Given the description of an element on the screen output the (x, y) to click on. 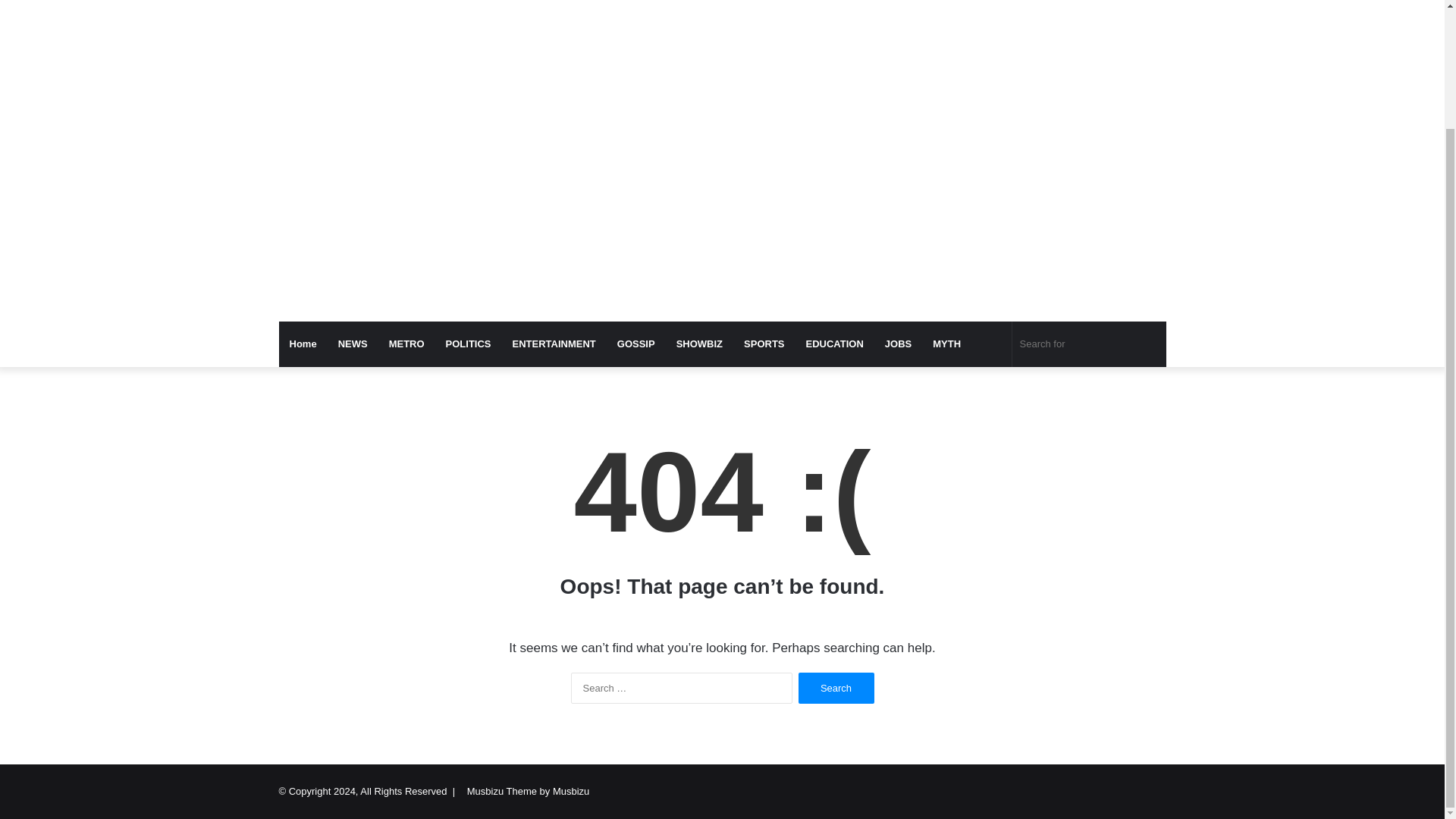
Search (835, 687)
EDUCATION (834, 343)
Musbizu Theme by Musbizu (528, 790)
Musbizu (419, 4)
Search for (1088, 343)
Search (835, 687)
SPORTS (763, 343)
ENTERTAINMENT (554, 343)
NEWS (352, 343)
